Given the description of an element on the screen output the (x, y) to click on. 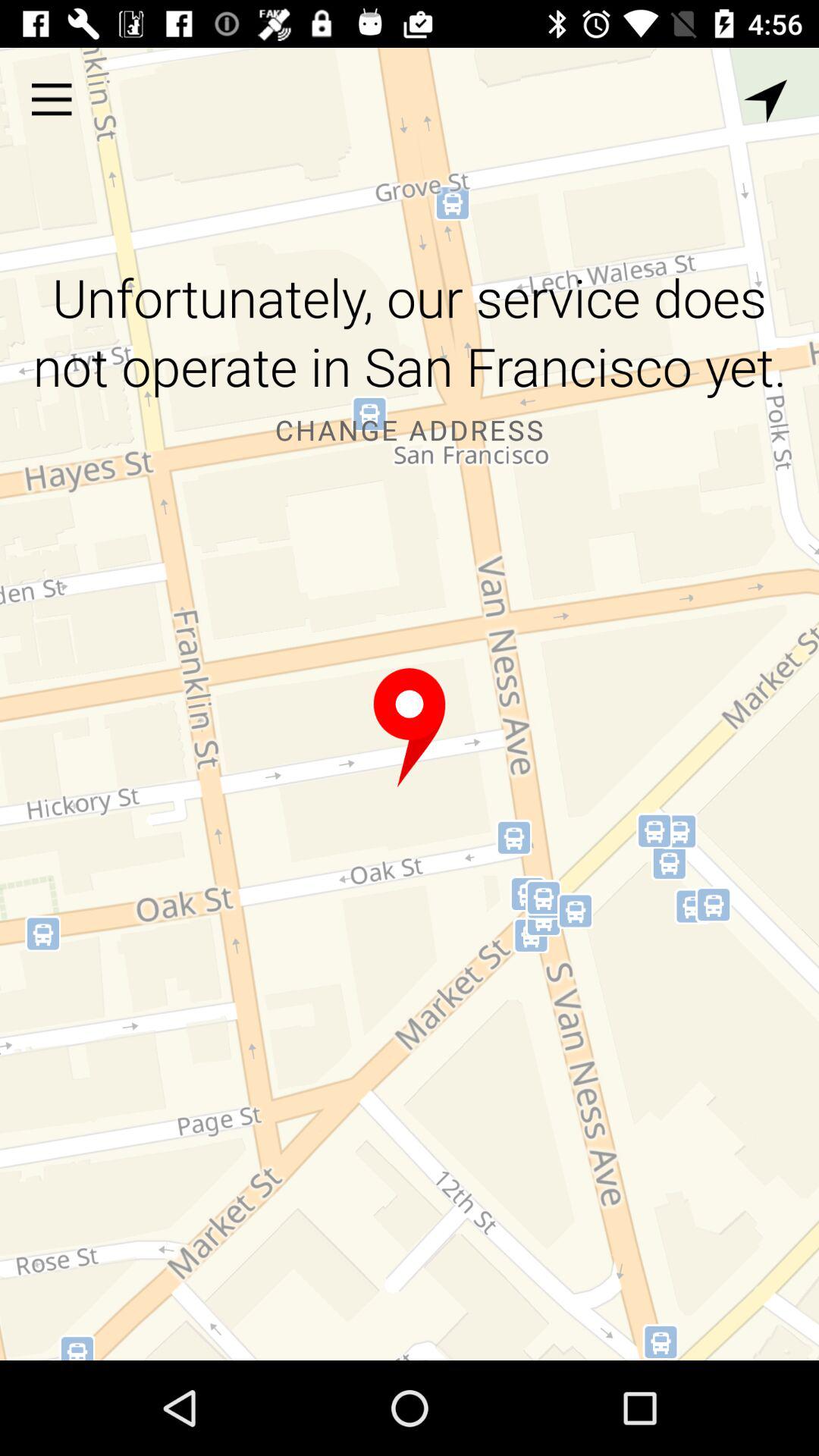
click for full menu (51, 99)
